Given the description of an element on the screen output the (x, y) to click on. 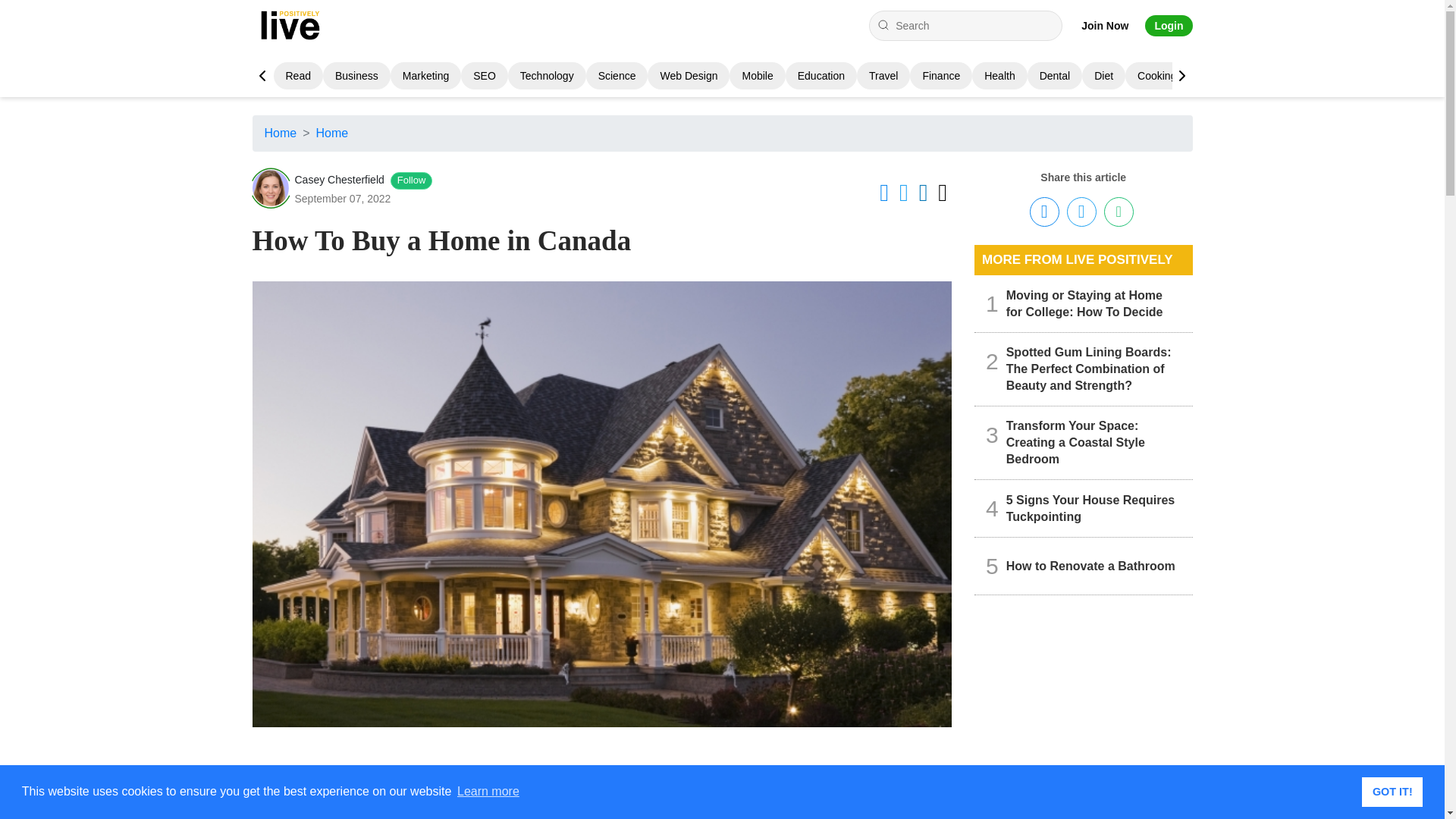
Health (999, 75)
Technology (546, 75)
Cooking (1156, 75)
Science (617, 75)
Learn more (487, 791)
Marketing (425, 75)
GOT IT! (1391, 791)
Web Design (688, 75)
Share via Twitter (1081, 211)
Read (297, 75)
Education (820, 75)
Share via Email (1118, 211)
Business (356, 75)
Dental (1054, 75)
Login (1168, 25)
